Given the description of an element on the screen output the (x, y) to click on. 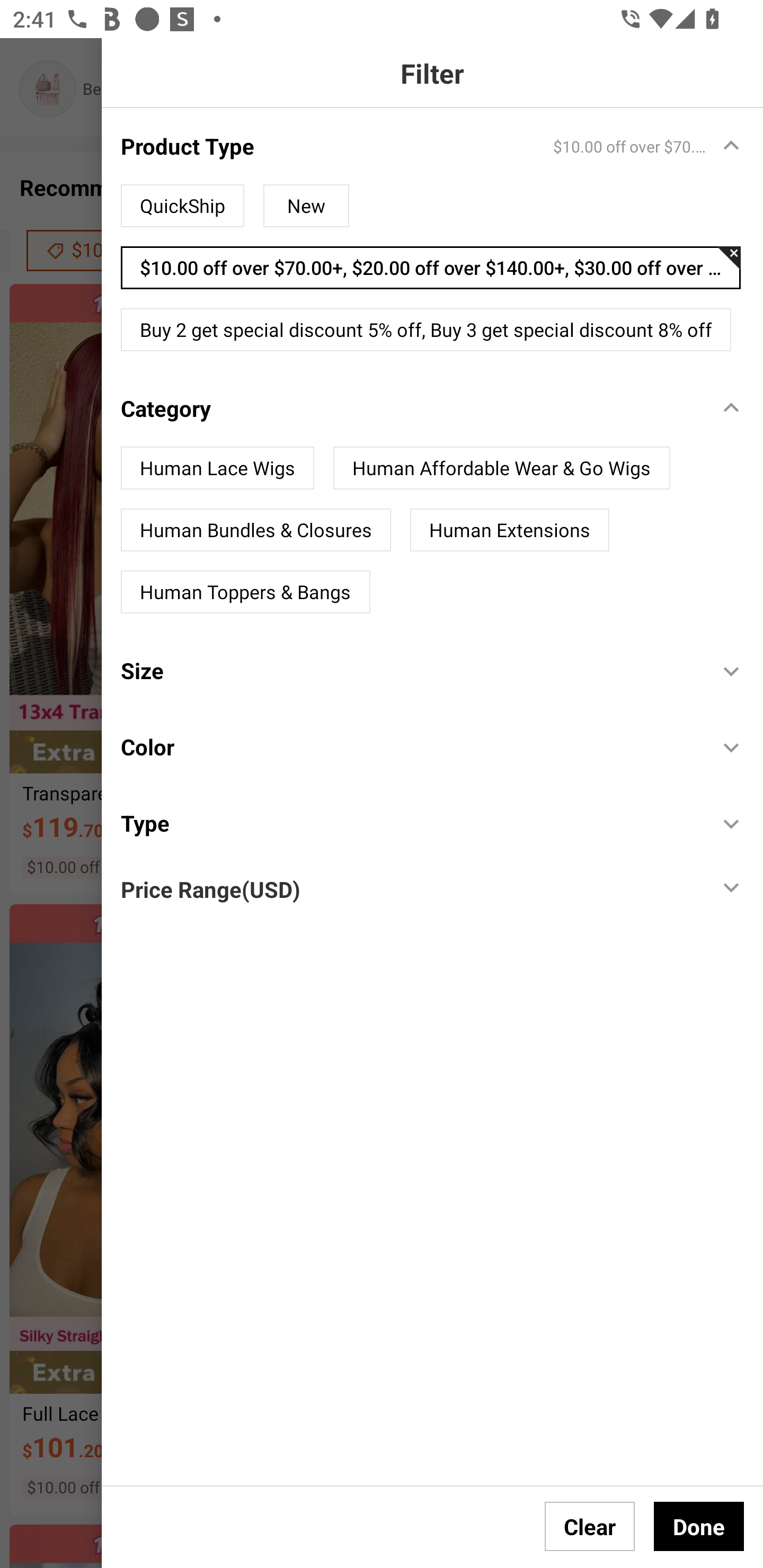
Wigs & Accs (446, 89)
Product Type (409, 145)
QuickShip (182, 206)
New (306, 206)
Category (409, 408)
Human Lace Wigs (217, 467)
Human Affordable Wear & Go Wigs (501, 467)
Human Bundles & Closures (255, 529)
Human Extensions (509, 529)
Human Toppers & Bangs (245, 591)
Size (409, 670)
Color (409, 746)
Type (409, 823)
Price Range(USD) (210, 888)
Clear (589, 1526)
Done (698, 1526)
